Given the description of an element on the screen output the (x, y) to click on. 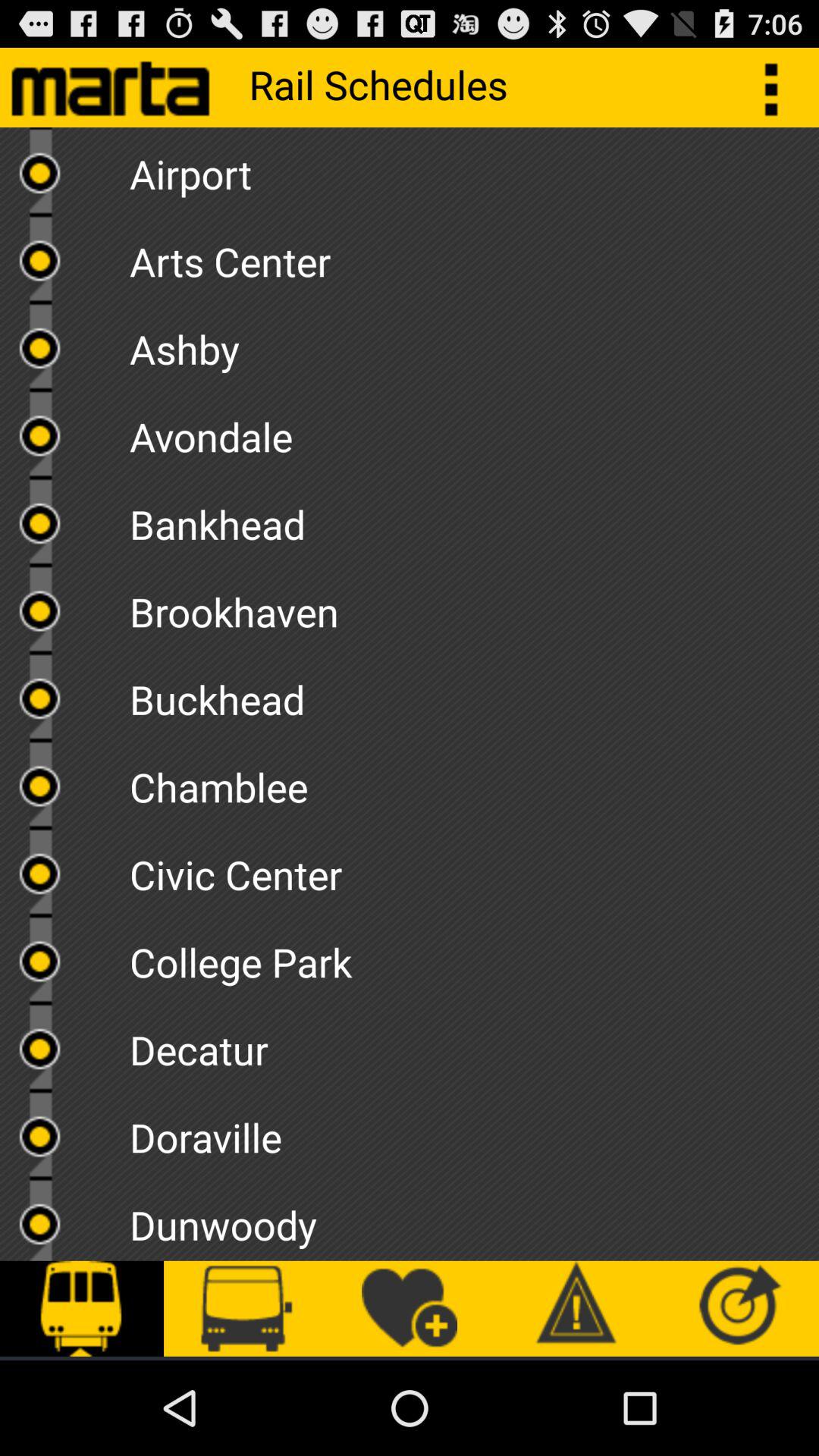
jump to dunwoody icon (474, 1219)
